Given the description of an element on the screen output the (x, y) to click on. 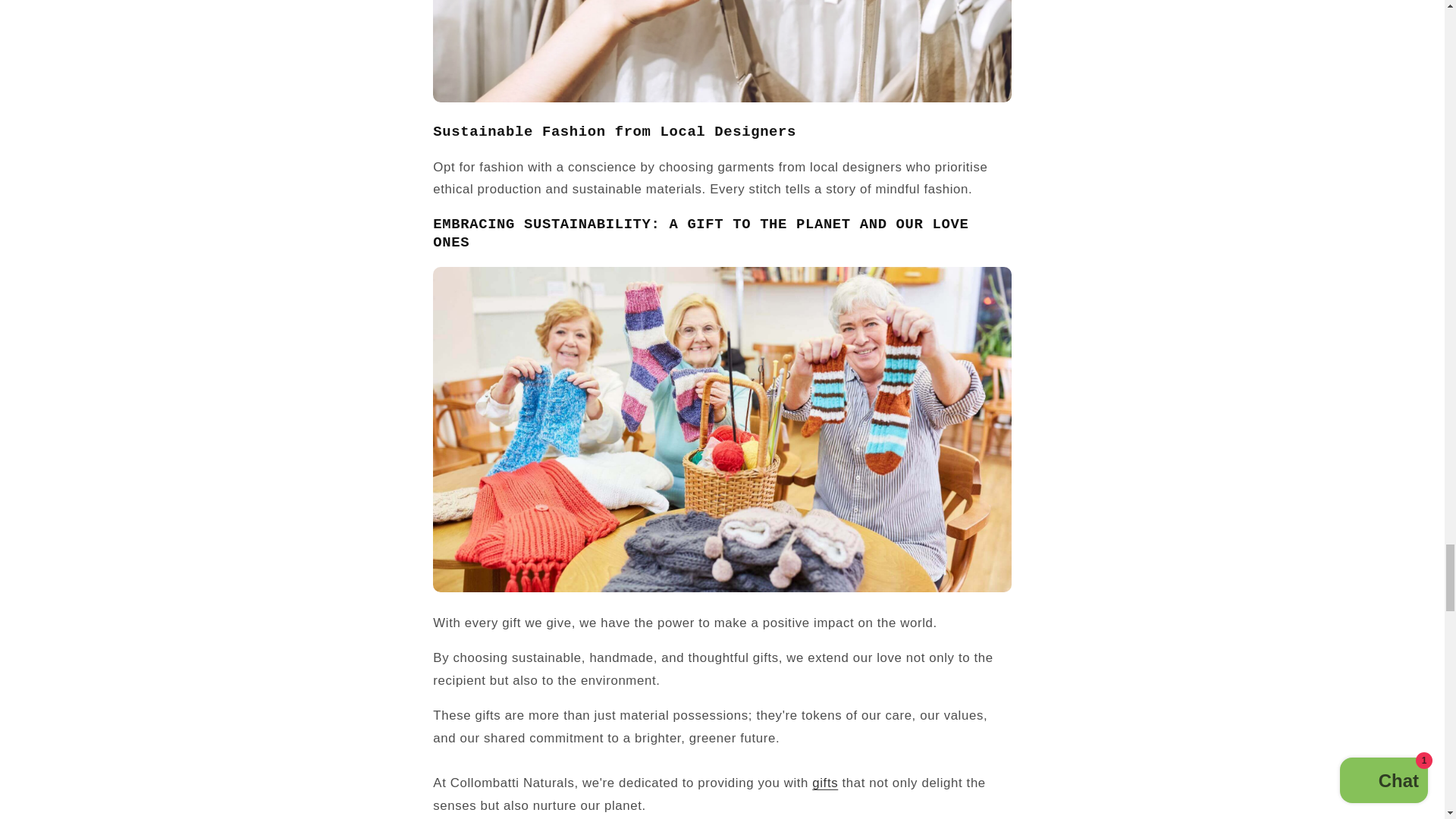
Collombatti Naturals gift ideas (825, 782)
